Given the description of an element on the screen output the (x, y) to click on. 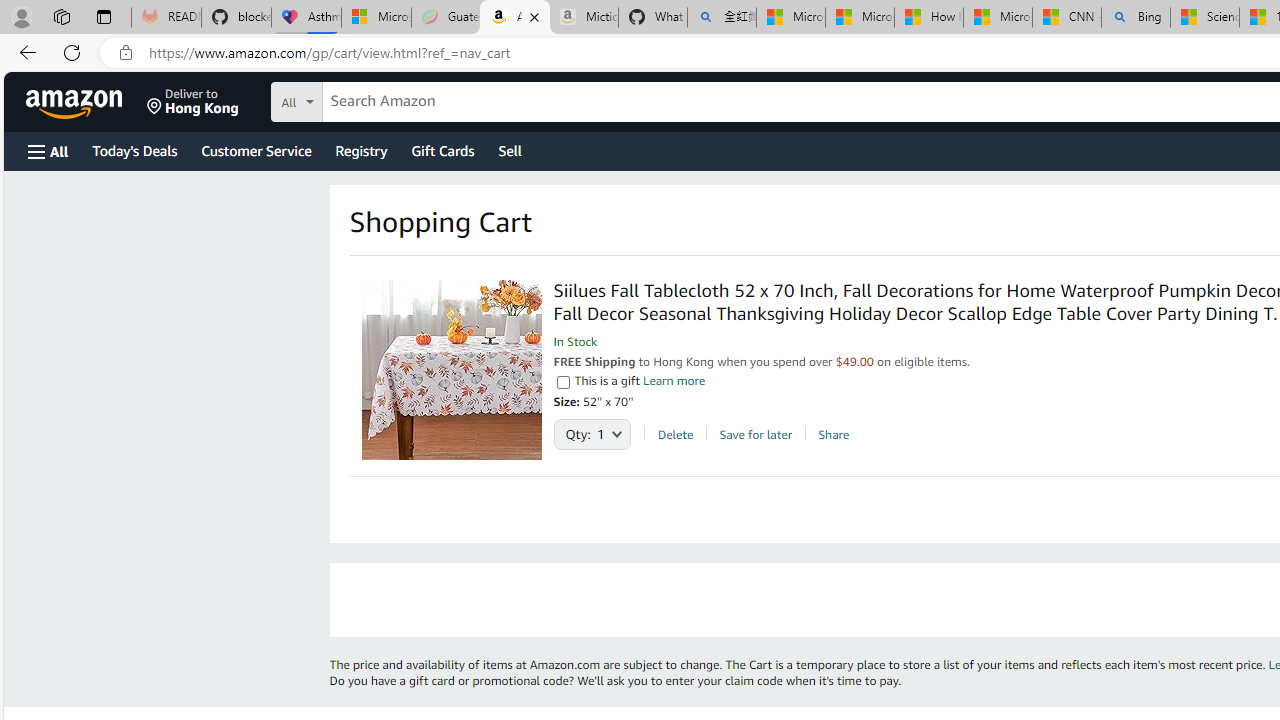
Gift Cards (442, 150)
Bing (1135, 17)
Deliver to Hong Kong (193, 101)
Qty: Quantity (592, 429)
Asthma Inhalers: Names and Types (305, 17)
Amazon (76, 101)
Open Menu (48, 151)
